Given the description of an element on the screen output the (x, y) to click on. 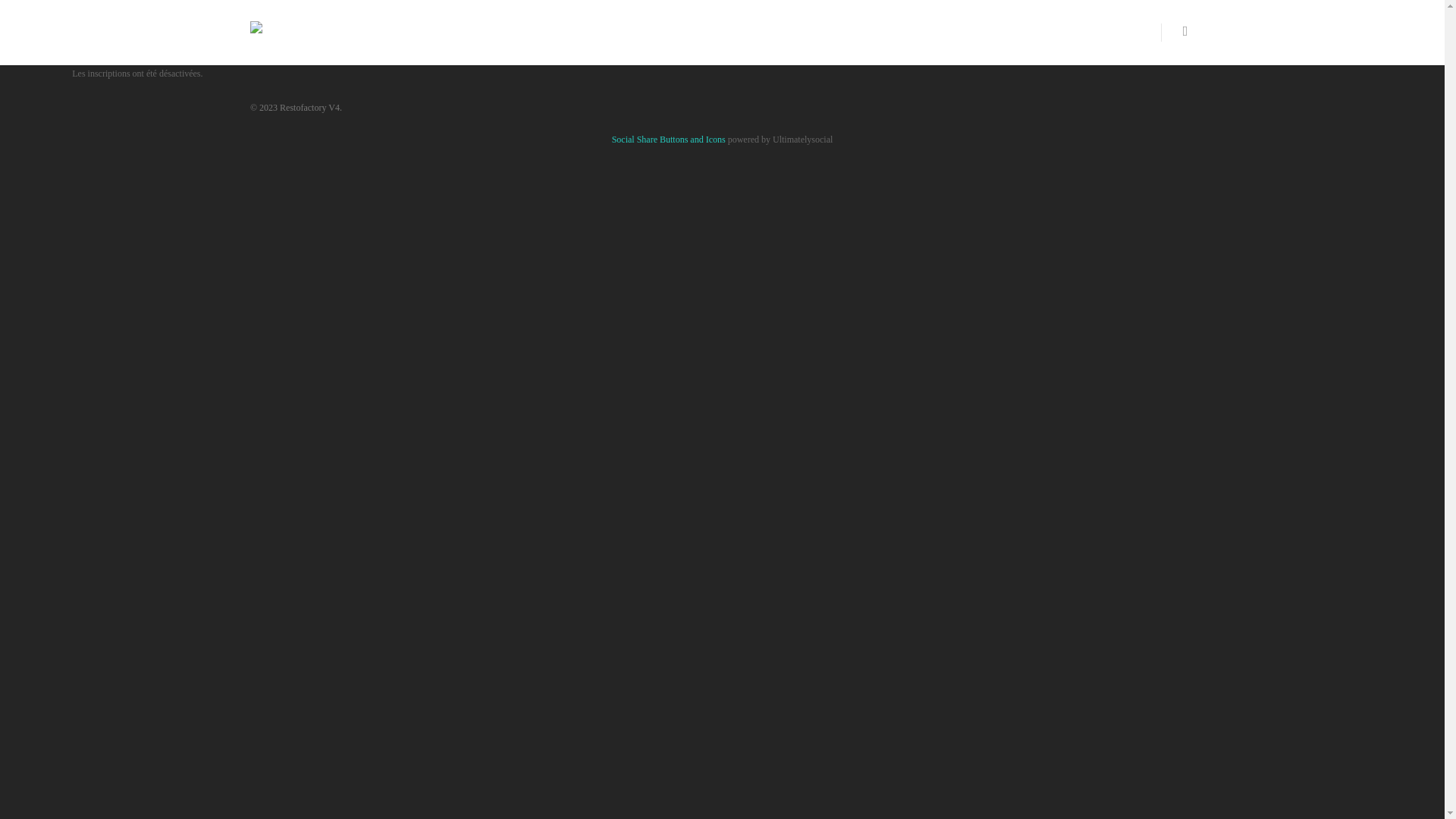
Social Share Buttons and Icons Element type: text (668, 139)
